Given the description of an element on the screen output the (x, y) to click on. 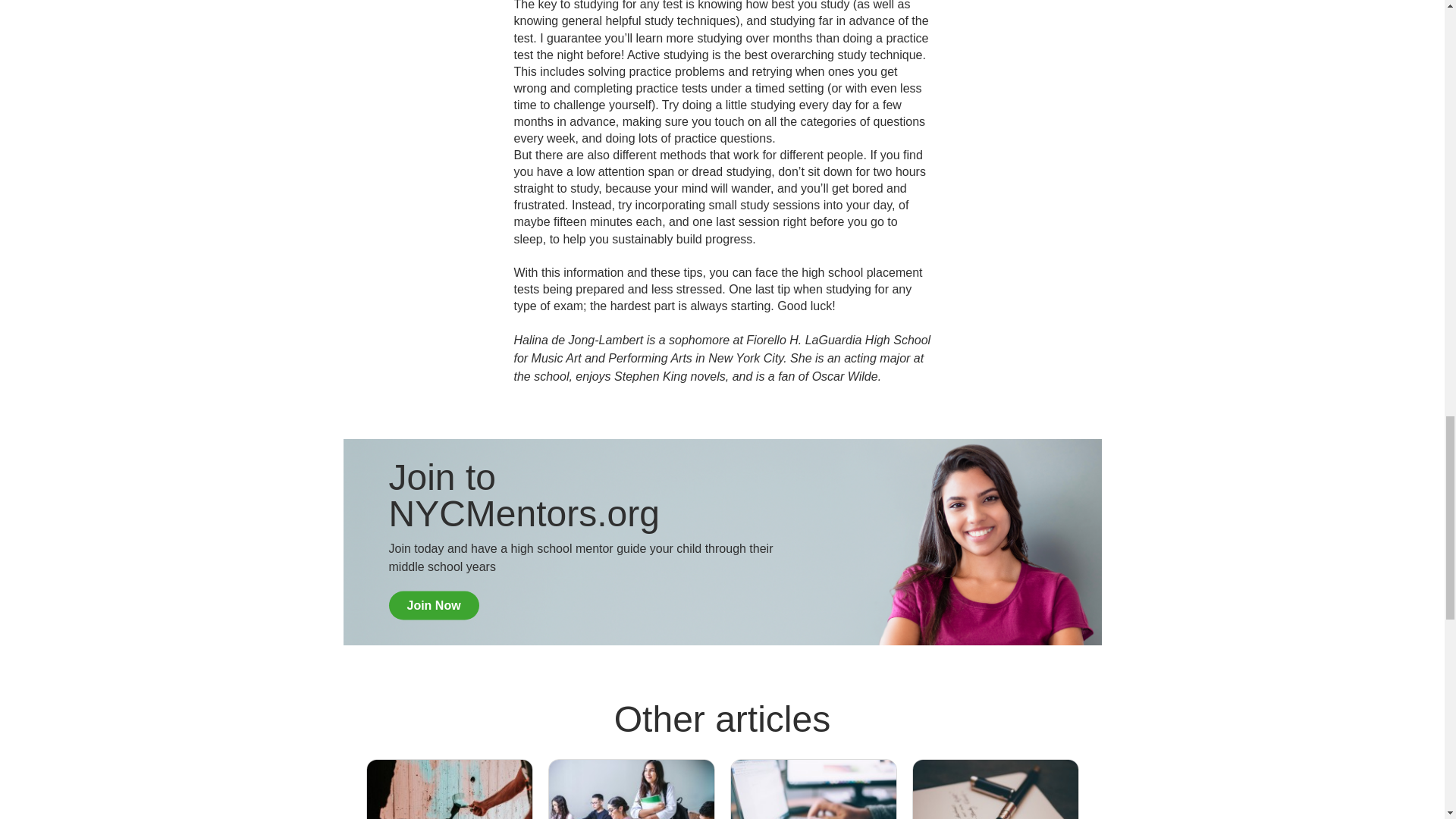
Join Now (433, 605)
